Given the description of an element on the screen output the (x, y) to click on. 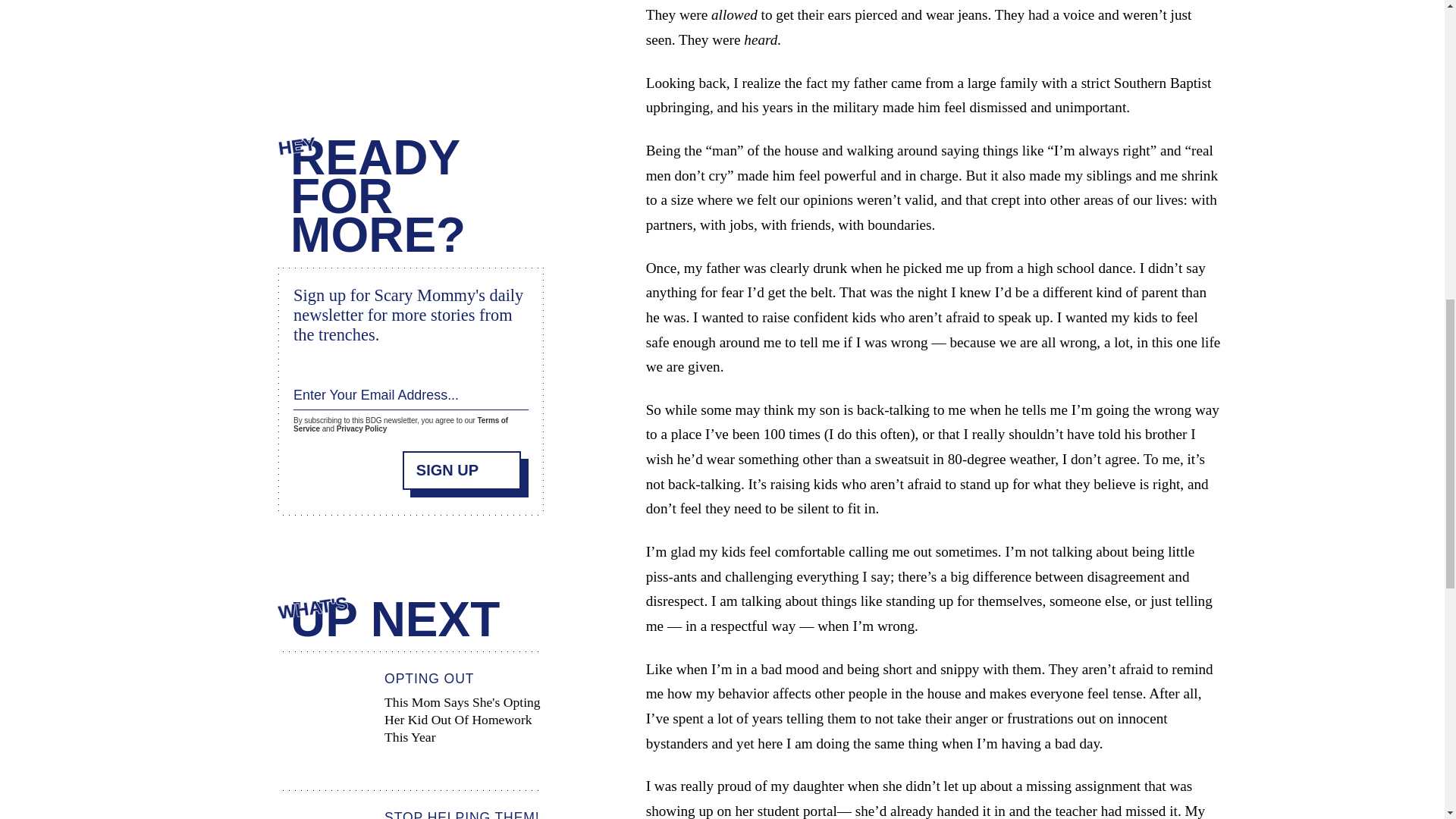
Privacy Policy (361, 429)
SIGN UP (462, 470)
Terms of Service (401, 424)
